Given the description of an element on the screen output the (x, y) to click on. 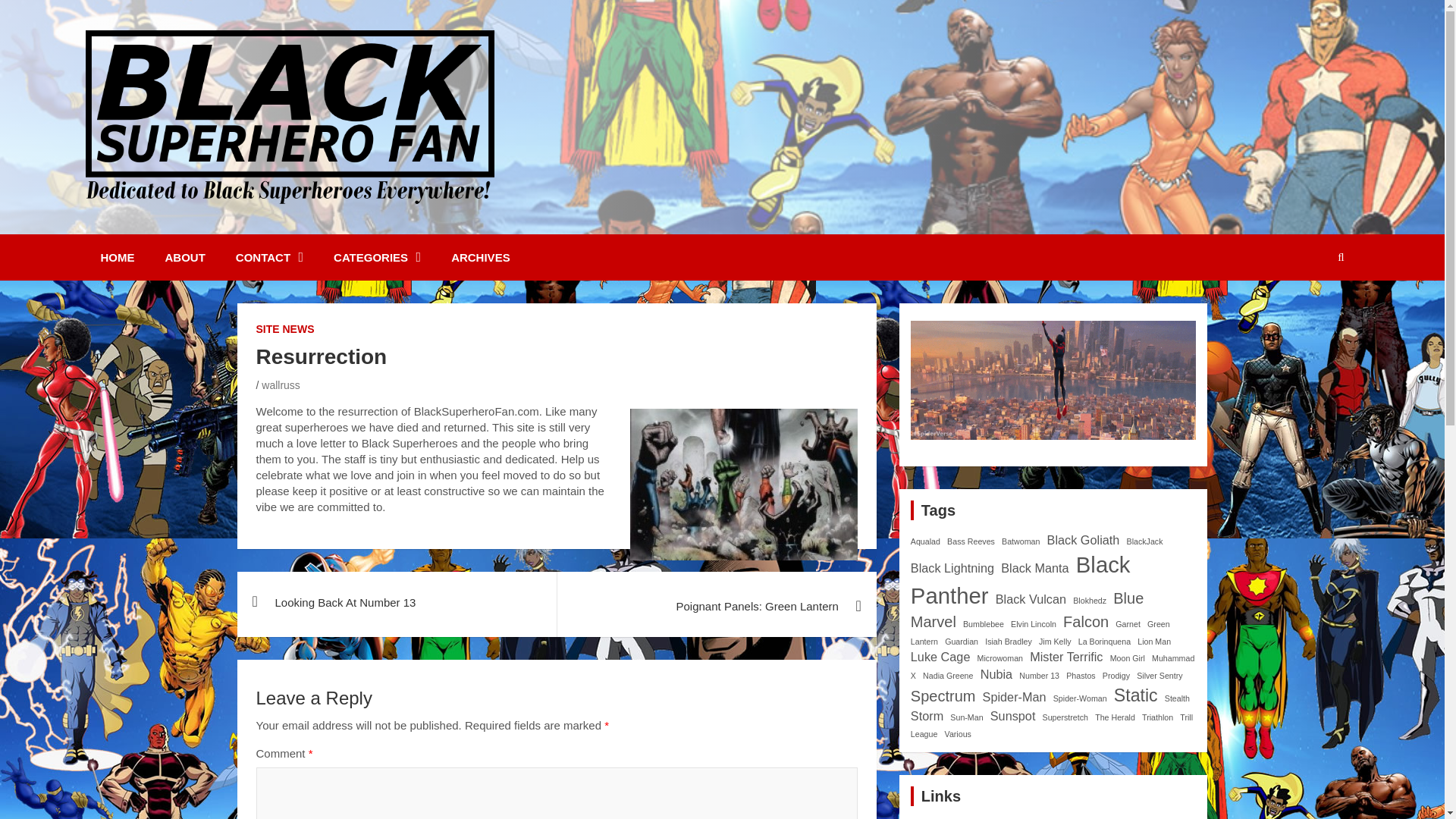
Black Goliath (1082, 539)
Bass Reeves (970, 541)
HOME (116, 257)
Aqualad (925, 541)
Looking Back At Number 13 (395, 602)
ABOUT (185, 257)
BlackSuperheroFan.com (263, 223)
SITE NEWS (285, 329)
ARCHIVES (480, 257)
Poignant Panels: Green Lantern (716, 606)
wallruss (280, 385)
Batwoman (1020, 541)
CONTACT (269, 257)
CATEGORIES (376, 257)
